Given the description of an element on the screen output the (x, y) to click on. 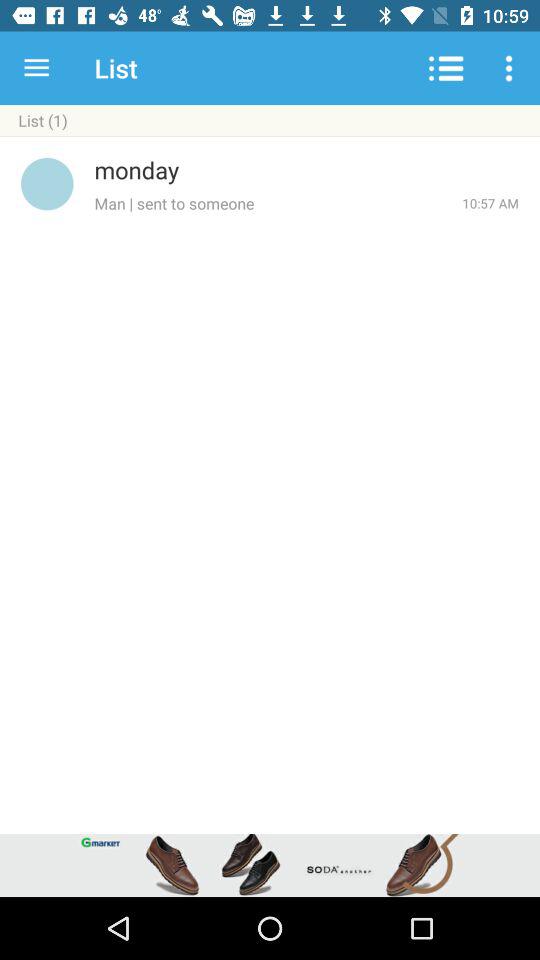
press item above monday item (270, 136)
